Given the description of an element on the screen output the (x, y) to click on. 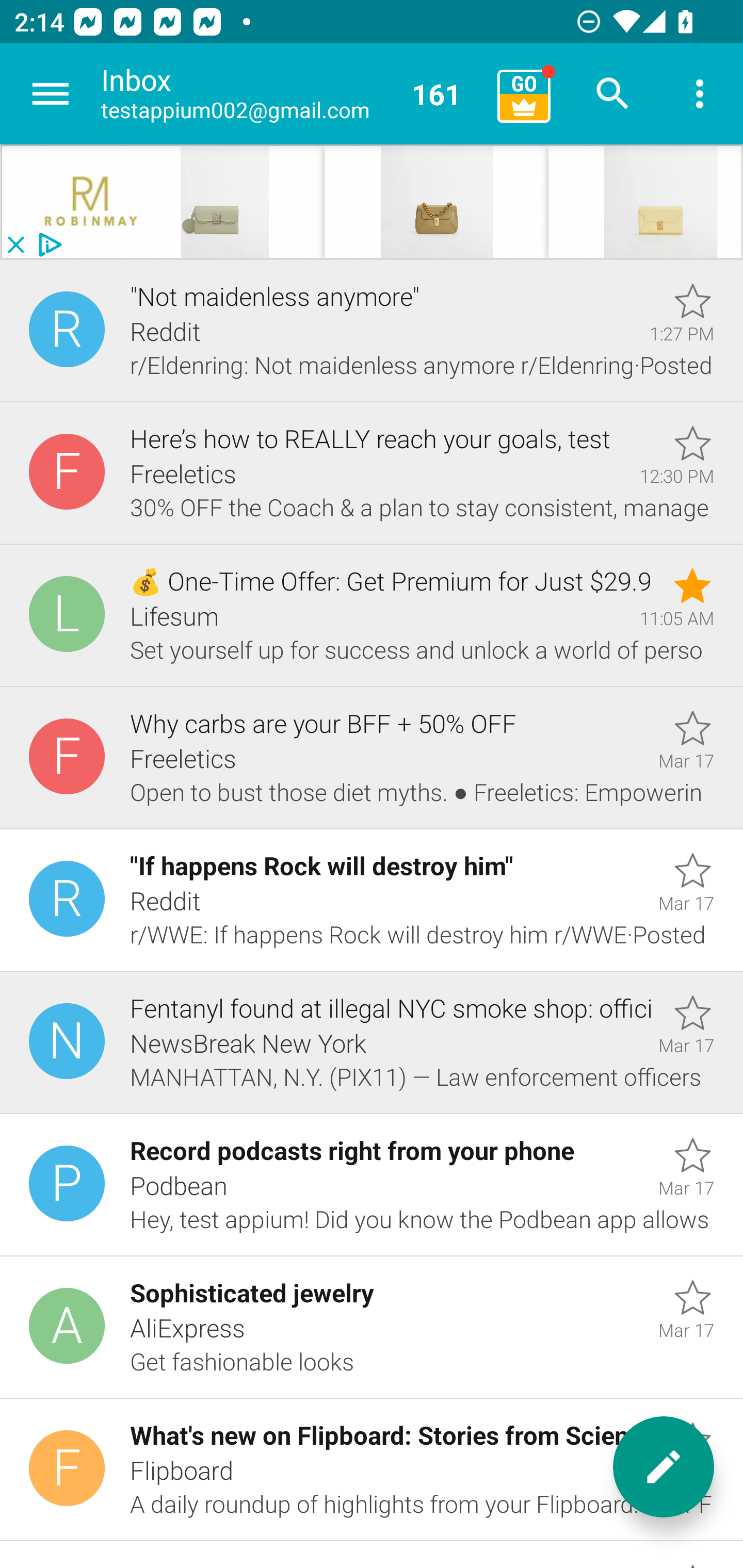
Navigate up (50, 93)
Inbox testappium002@gmail.com 161 (291, 93)
Search (612, 93)
More options (699, 93)
   (91, 202)
   (253, 202)
   (436, 202)
   (644, 202)
close_button (14, 245)
privacy_small (47, 245)
New message (663, 1466)
